Given the description of an element on the screen output the (x, y) to click on. 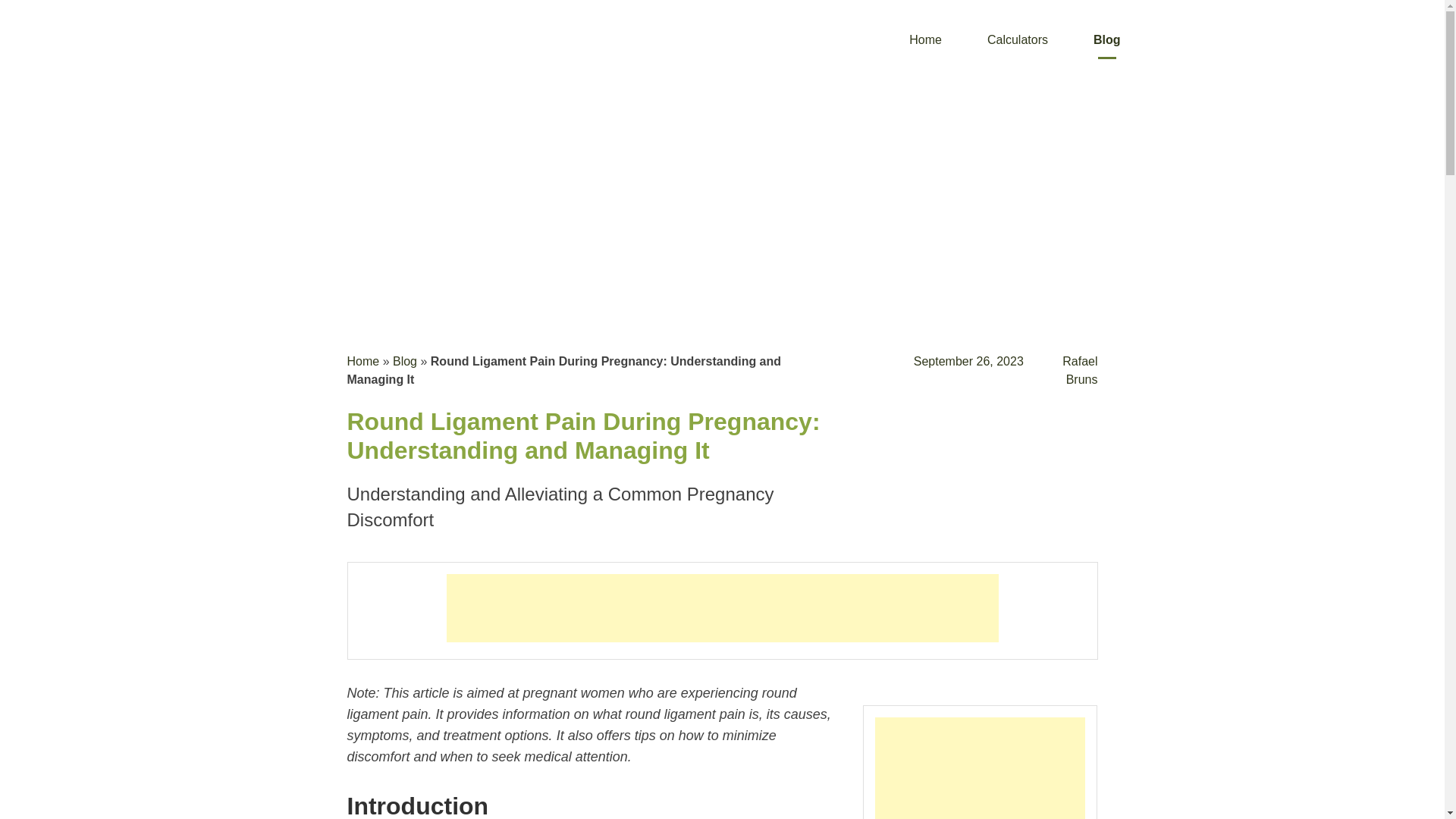
Calculators (1016, 39)
Home (924, 39)
Rafael Bruns (1079, 369)
Home (363, 360)
Blog (1106, 39)
Blog (1106, 39)
Calculators (1016, 39)
Home (924, 39)
September 26, 2023 (968, 360)
Blog (404, 360)
